Given the description of an element on the screen output the (x, y) to click on. 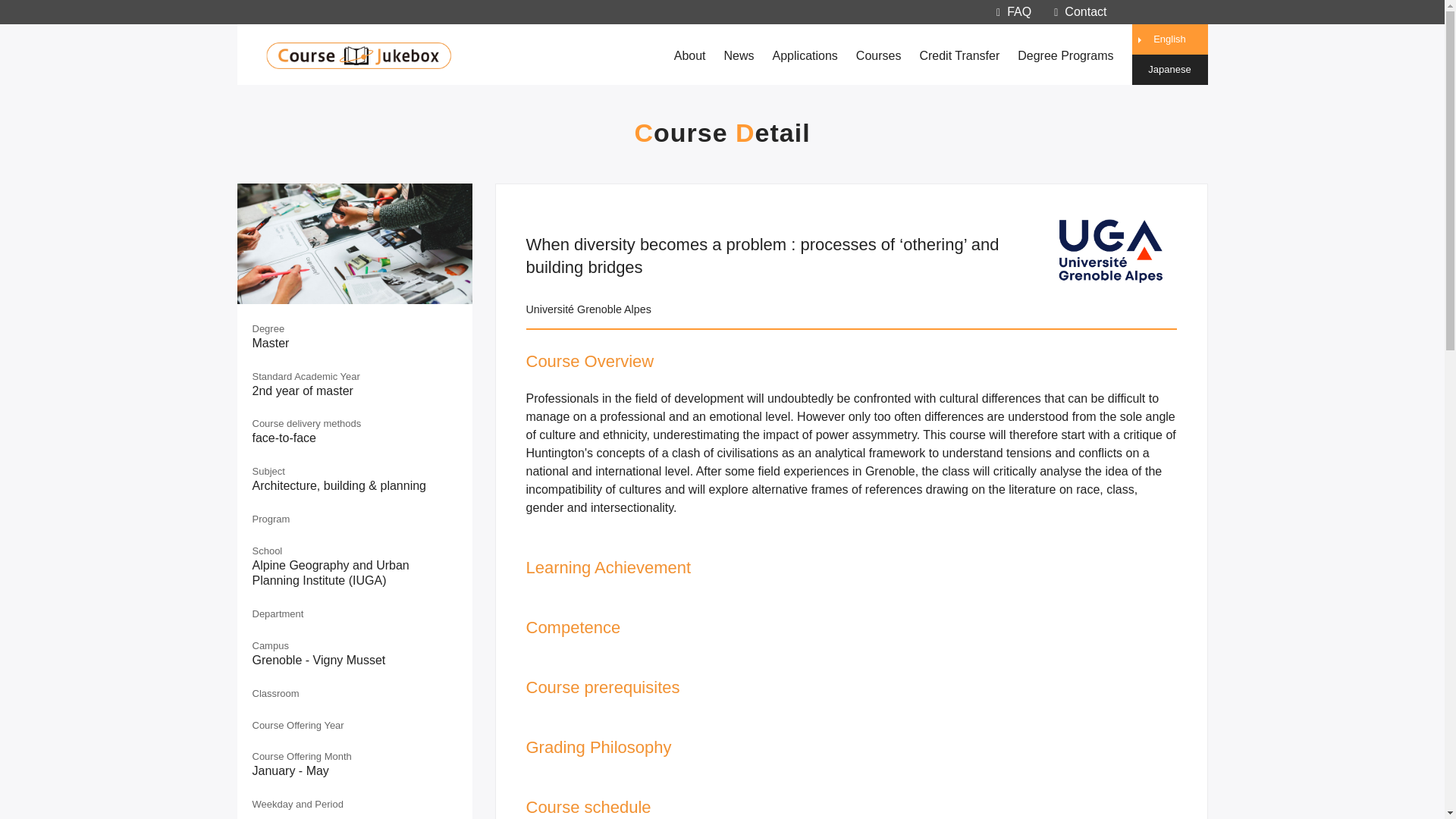
Courses (878, 55)
Japanese (1169, 69)
News (738, 55)
Contact (1080, 11)
japanese (1169, 69)
Degree Programs (1065, 55)
Applications (805, 55)
About (690, 55)
English (1169, 39)
FAQ (1012, 11)
Credit Transfer (958, 55)
english (1169, 39)
